Given the description of an element on the screen output the (x, y) to click on. 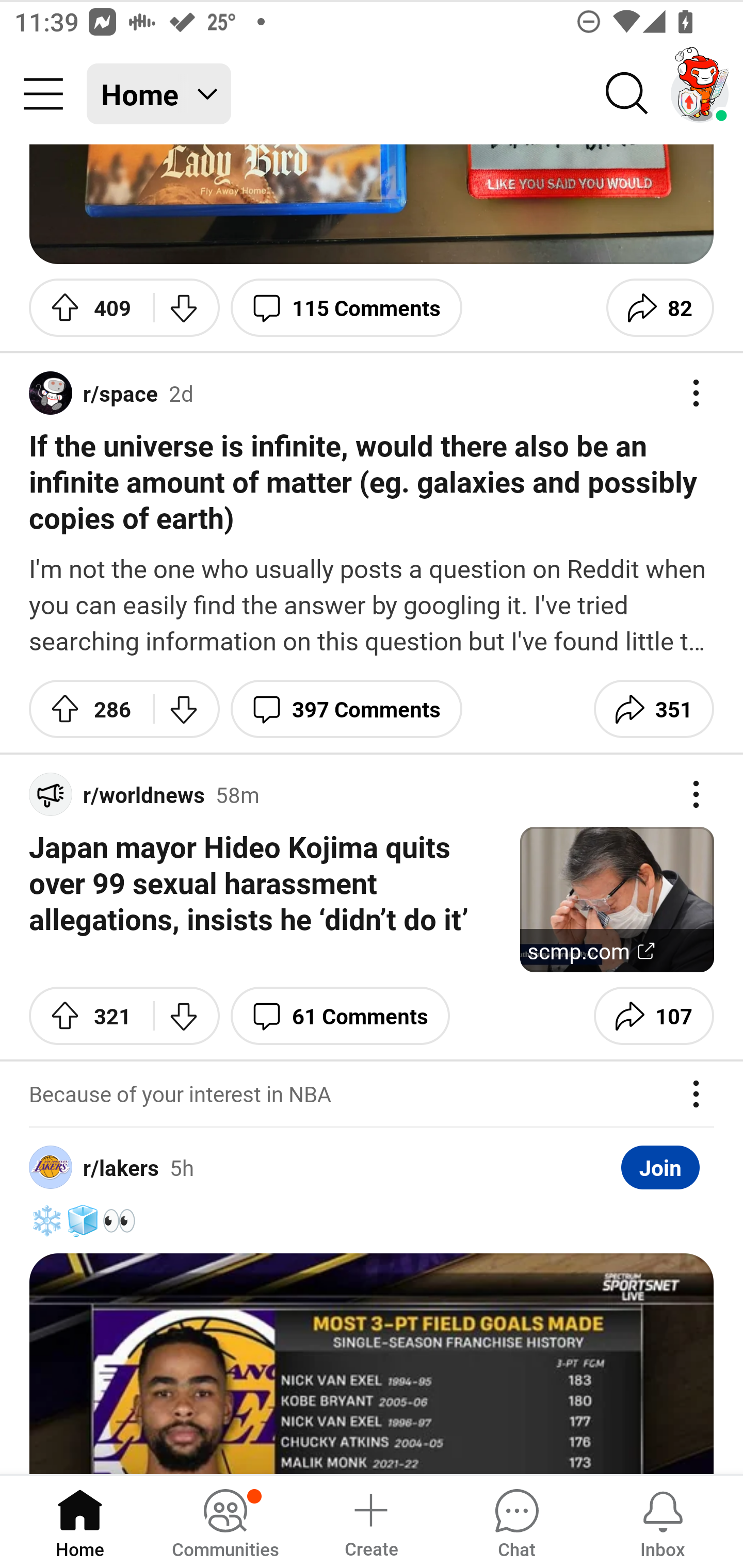
Community menu (43, 93)
Home Home feed (158, 93)
Search (626, 93)
TestAppium002 account (699, 93)
Home (80, 1520)
Communities, has notifications Communities (225, 1520)
Create a post Create (370, 1520)
Chat (516, 1520)
Inbox (662, 1520)
